Given the description of an element on the screen output the (x, y) to click on. 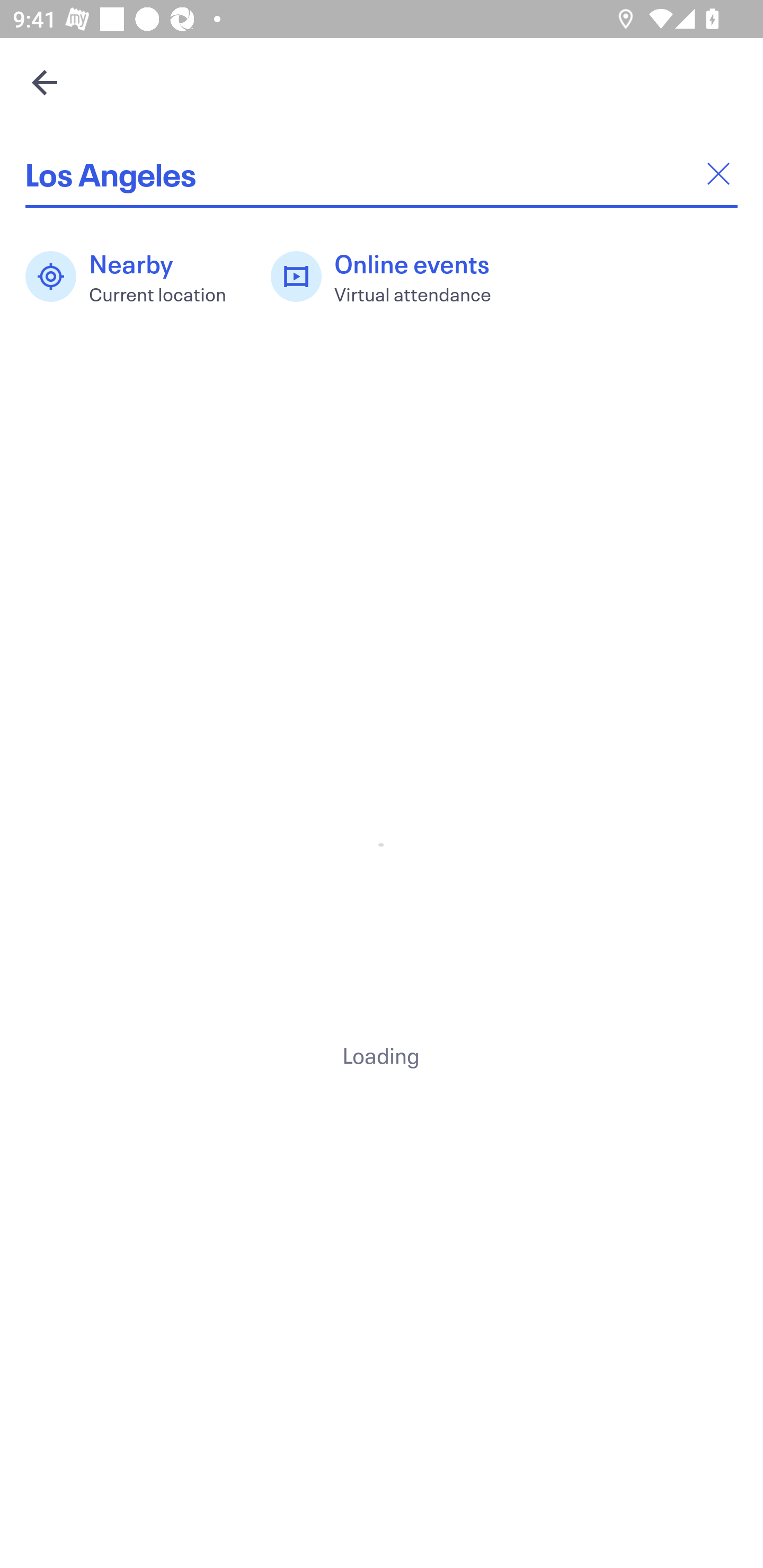
Navigate up (44, 82)
Los Angeles (381, 173)
Nearby Current location (135, 276)
Online events Virtual attendance (390, 276)
